Given the description of an element on the screen output the (x, y) to click on. 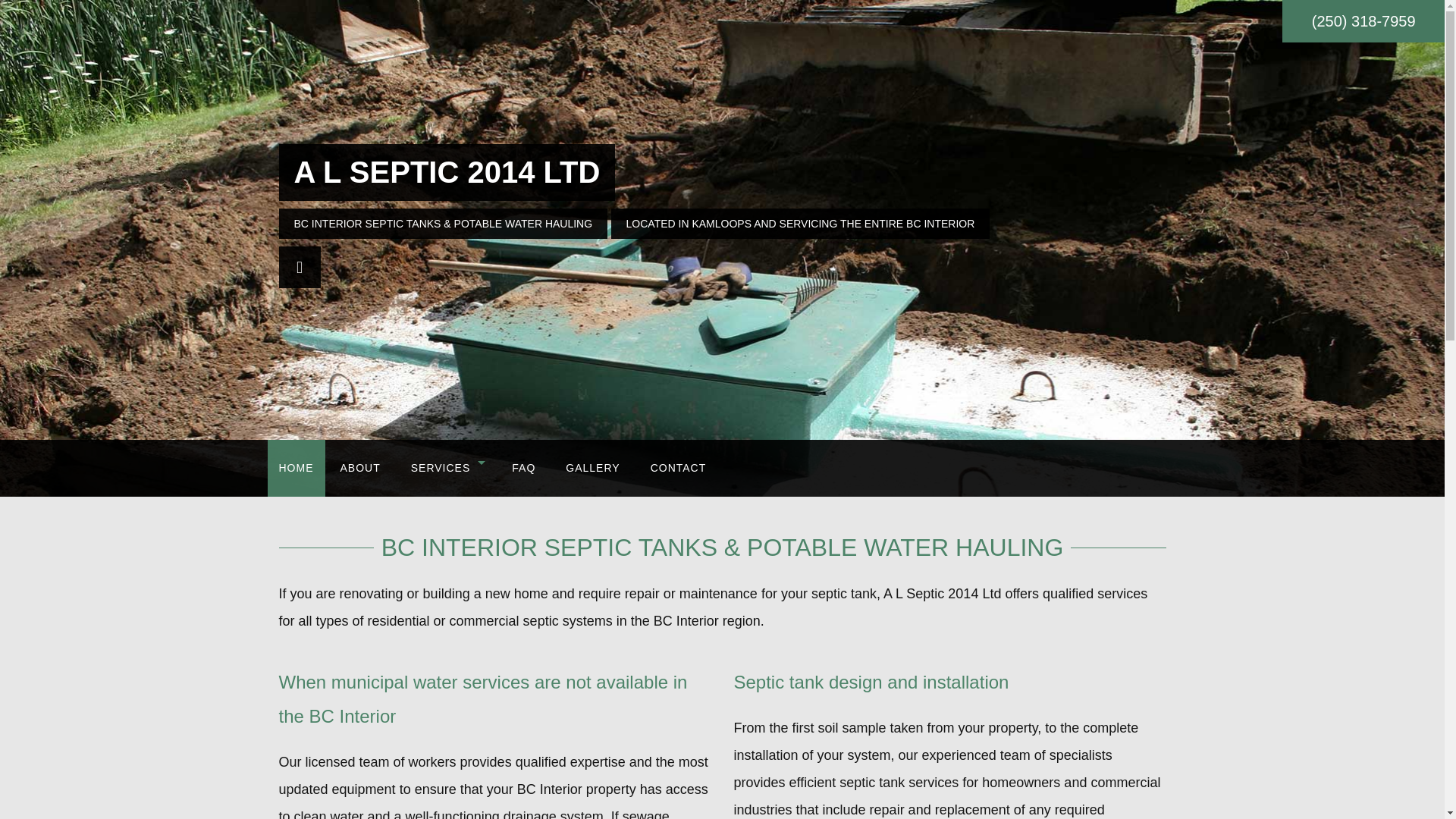
HOME (295, 467)
ABOUT (359, 467)
FAQ (523, 467)
CONTACT (678, 467)
SERVICES (446, 467)
GALLERY (592, 467)
A L SEPTIC 2014 LTD (447, 172)
